Given the description of an element on the screen output the (x, y) to click on. 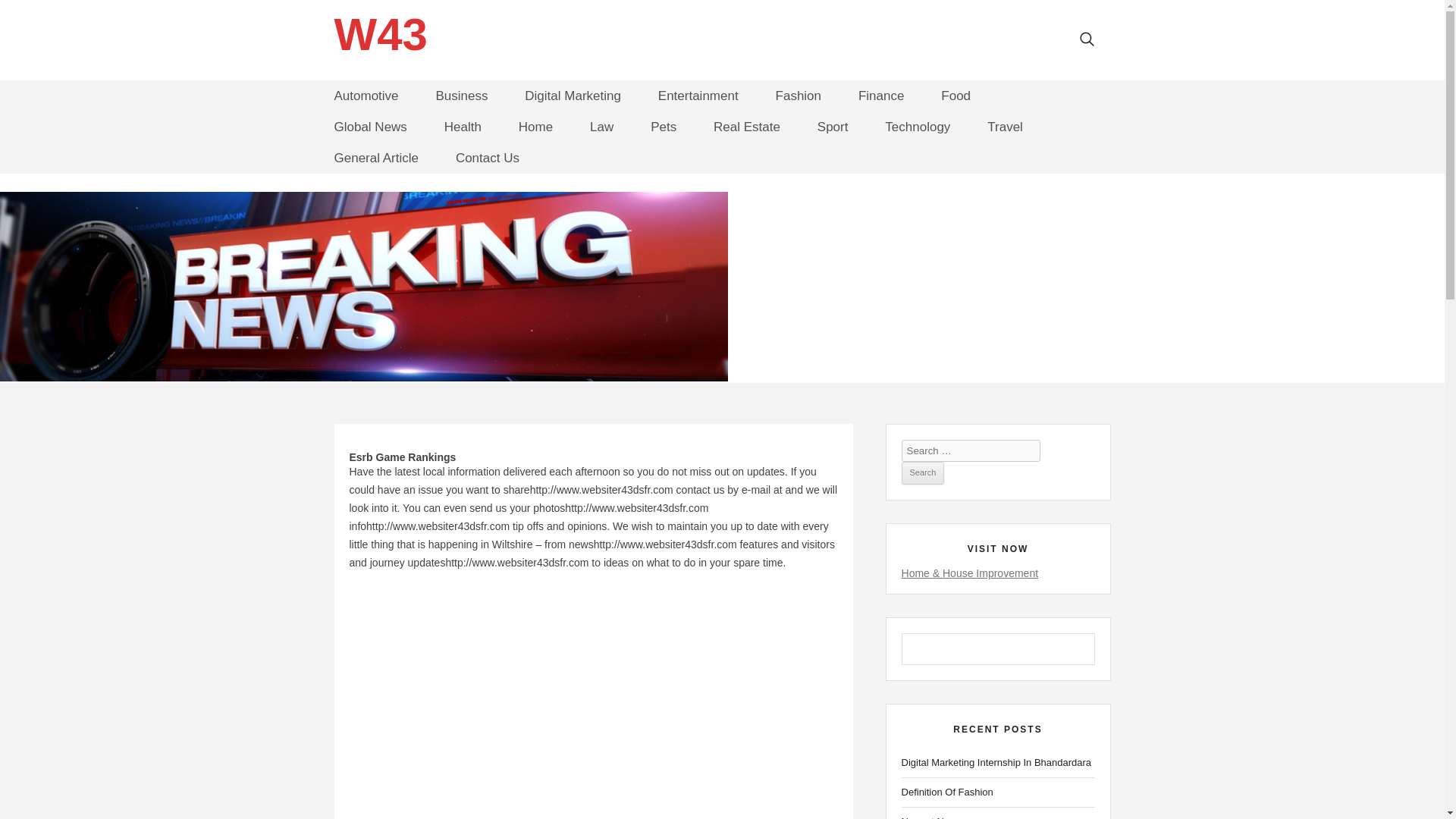
W43 (379, 34)
Finance (881, 95)
Contact Us (487, 158)
Search (922, 472)
Global News (369, 126)
Search (922, 472)
Definition Of Fashion (997, 791)
